Given the description of an element on the screen output the (x, y) to click on. 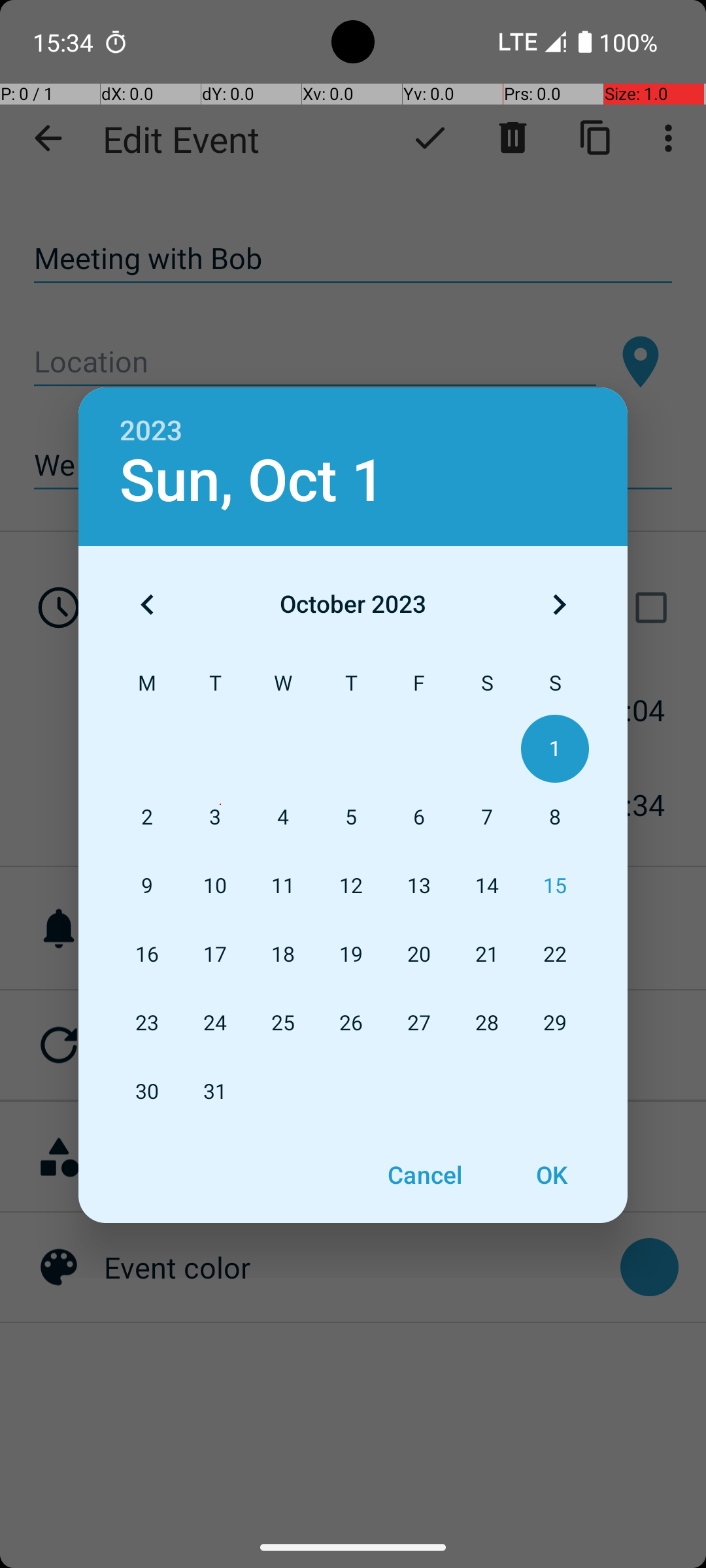
Sun, Oct 1 Element type: android.widget.TextView (252, 480)
